Given the description of an element on the screen output the (x, y) to click on. 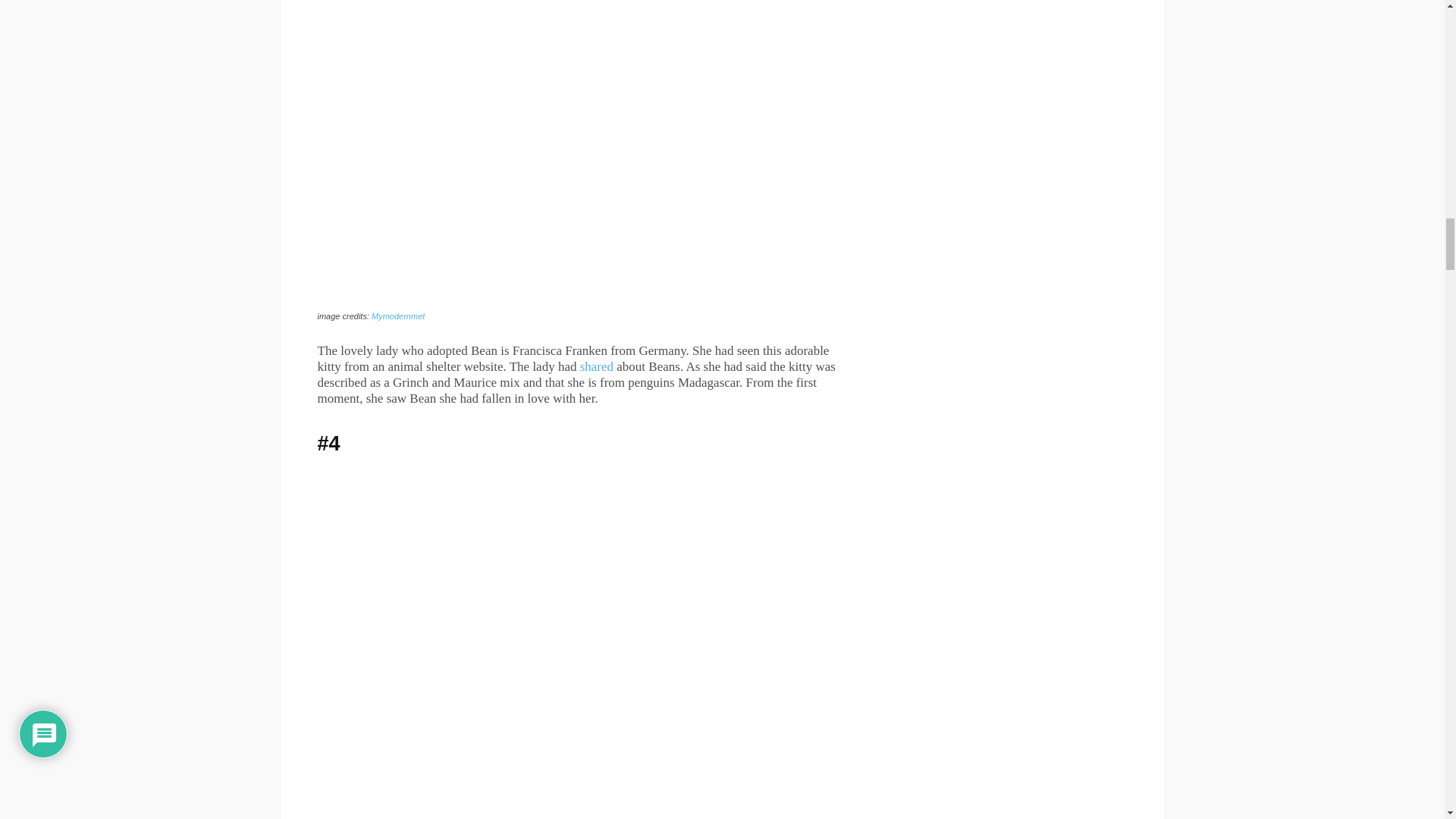
Mymodernmet (398, 316)
shared (595, 366)
